Given the description of an element on the screen output the (x, y) to click on. 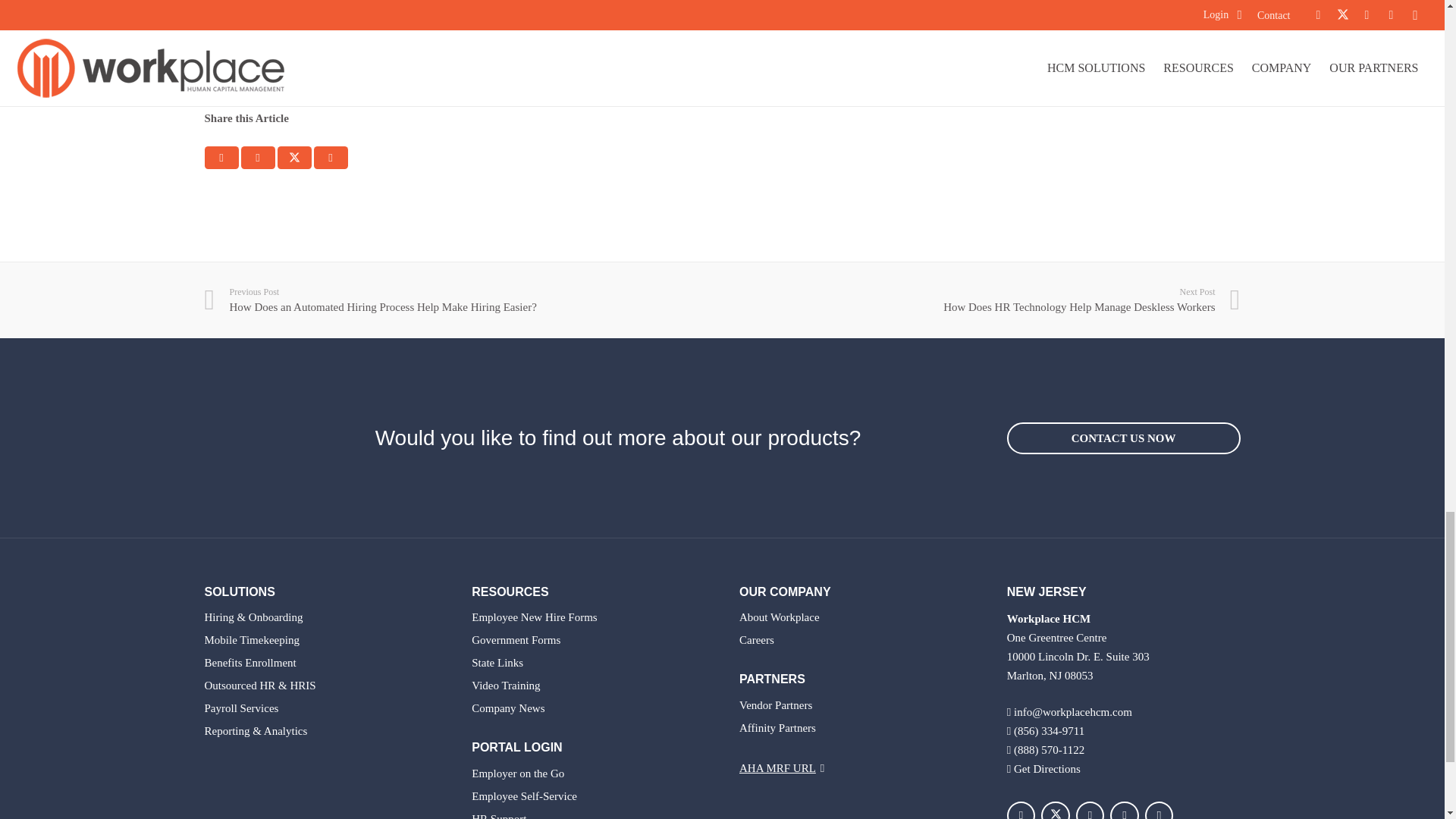
How Does HR Technology Help Manage Deskless Workers (981, 300)
Email this (221, 157)
Facebook (1021, 810)
Tweet this (294, 157)
Share this (330, 157)
Share this (258, 157)
